Given the description of an element on the screen output the (x, y) to click on. 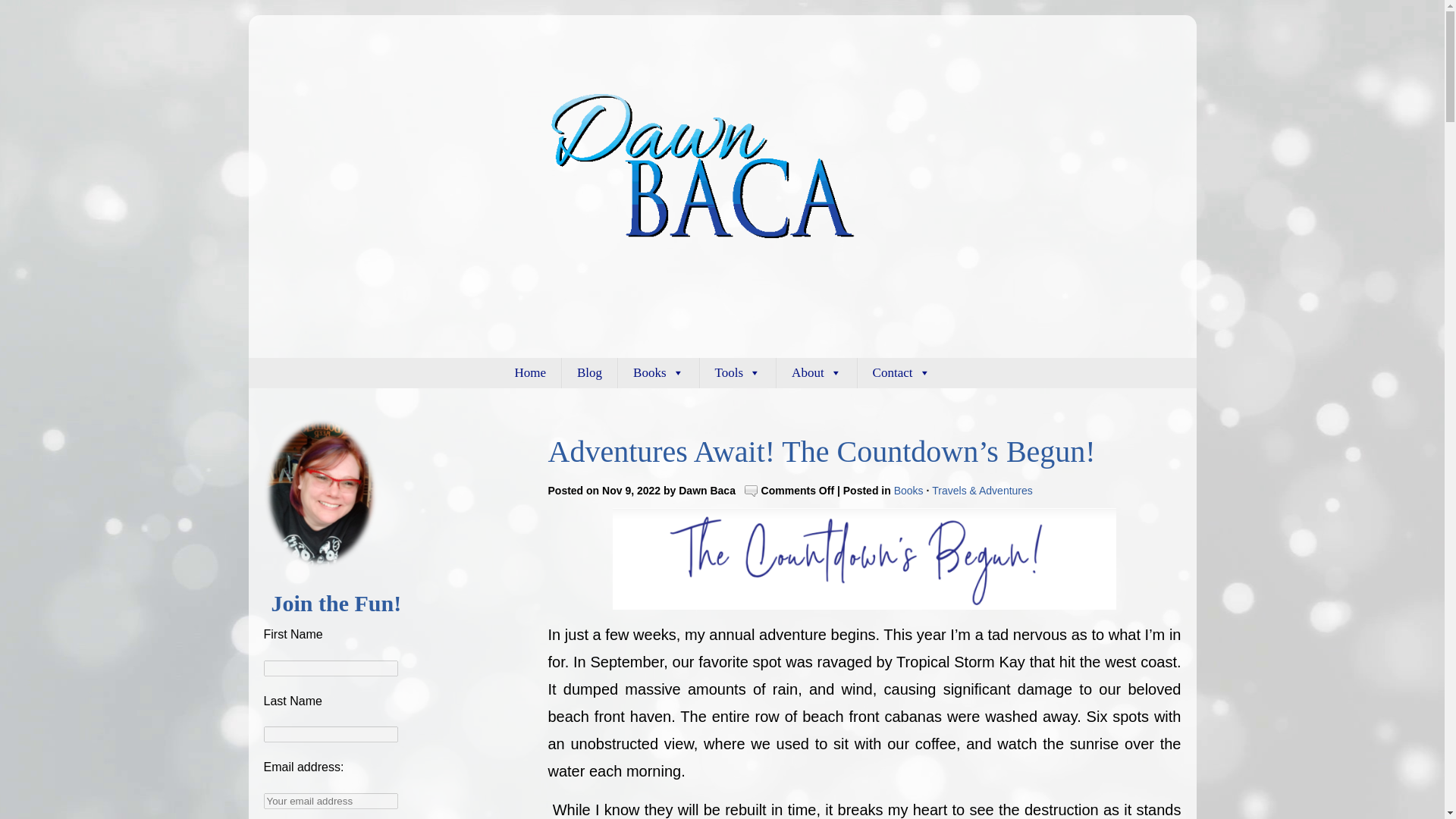
Home (529, 372)
Tools (738, 372)
Books (908, 490)
Blog (589, 372)
Books (657, 372)
About (816, 372)
Contact (900, 372)
